Given the description of an element on the screen output the (x, y) to click on. 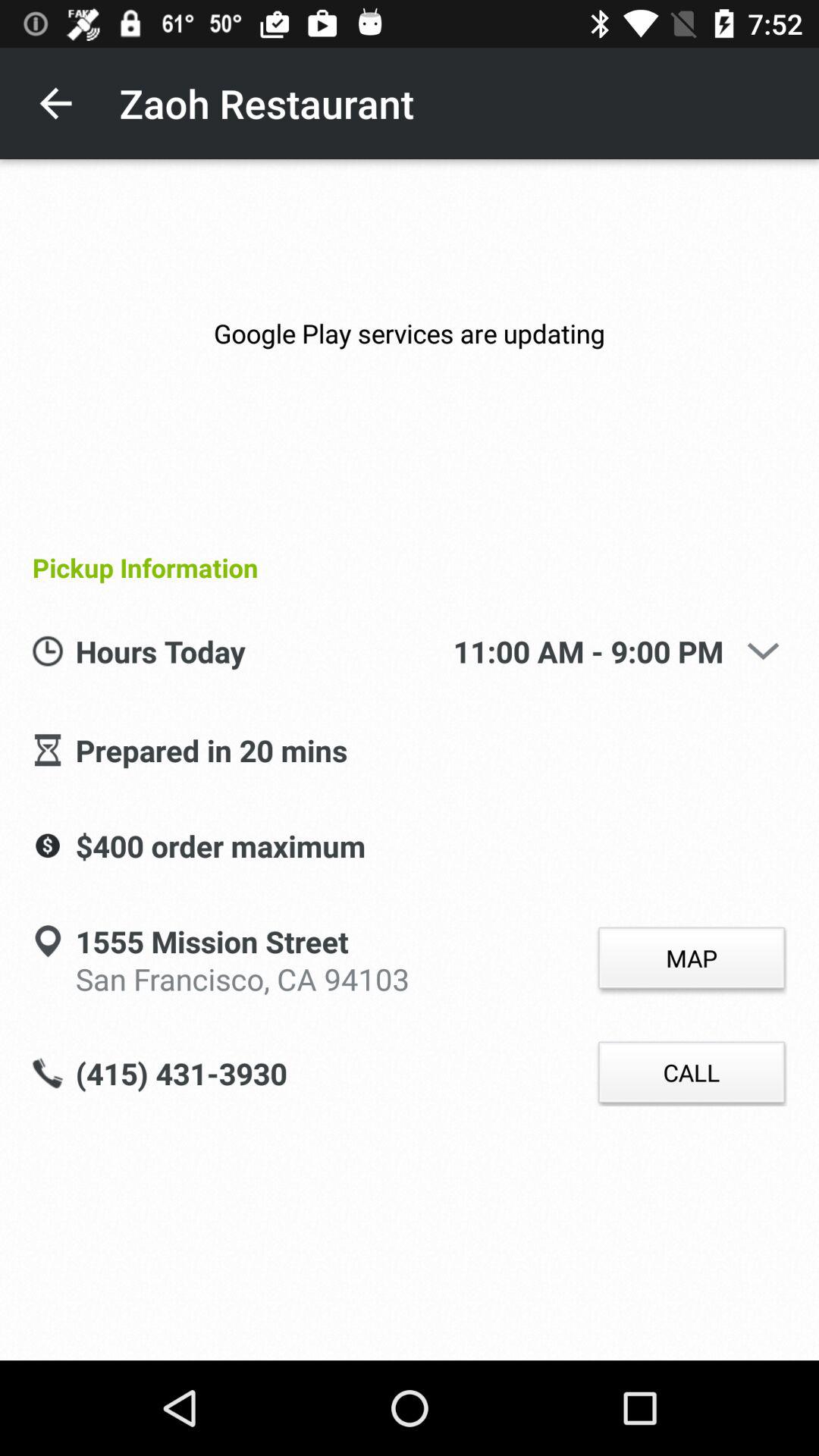
swipe to 11 00 am icon (588, 652)
